Given the description of an element on the screen output the (x, y) to click on. 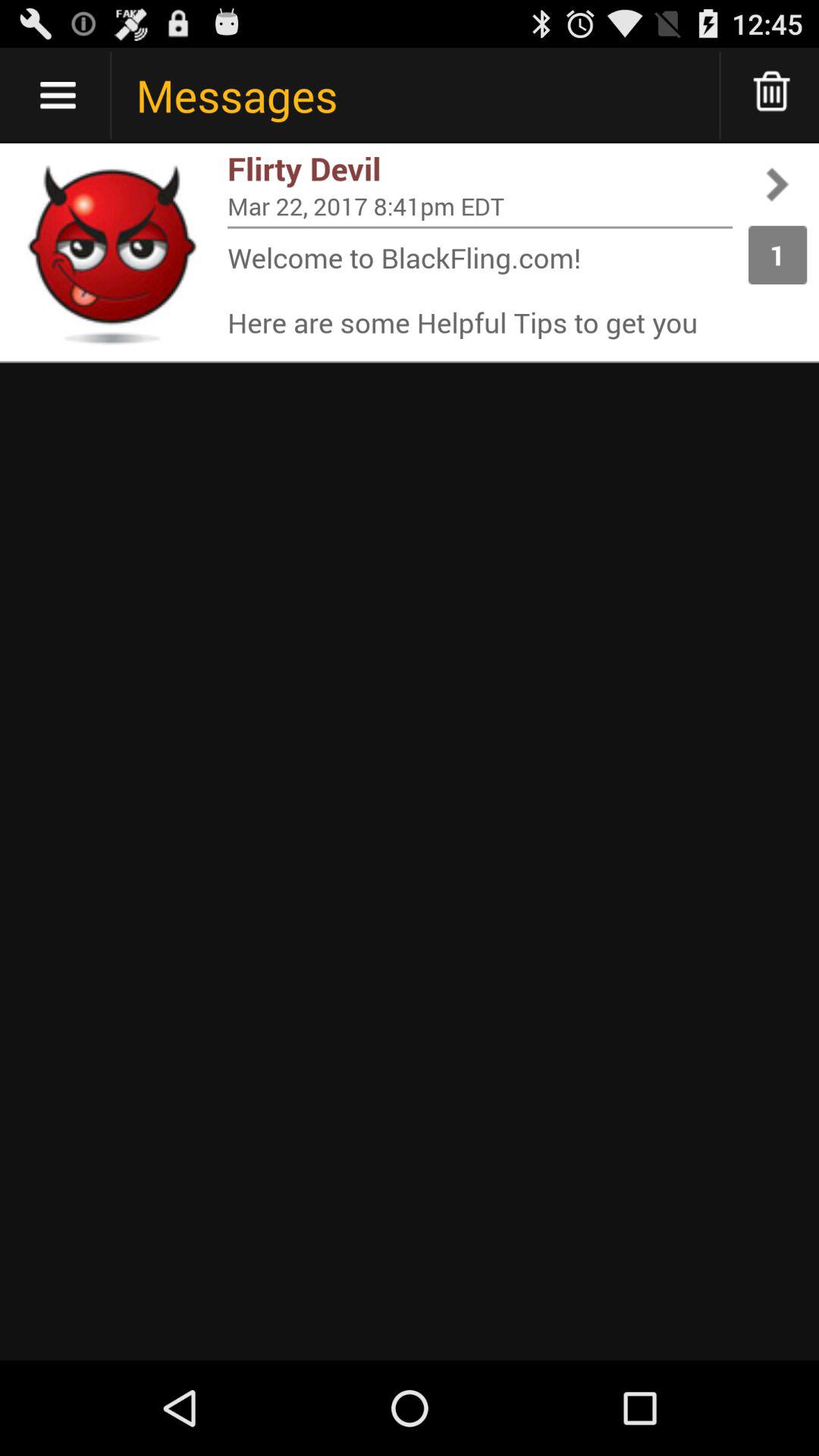
press the icon above the mar 22 2017 (479, 168)
